Given the description of an element on the screen output the (x, y) to click on. 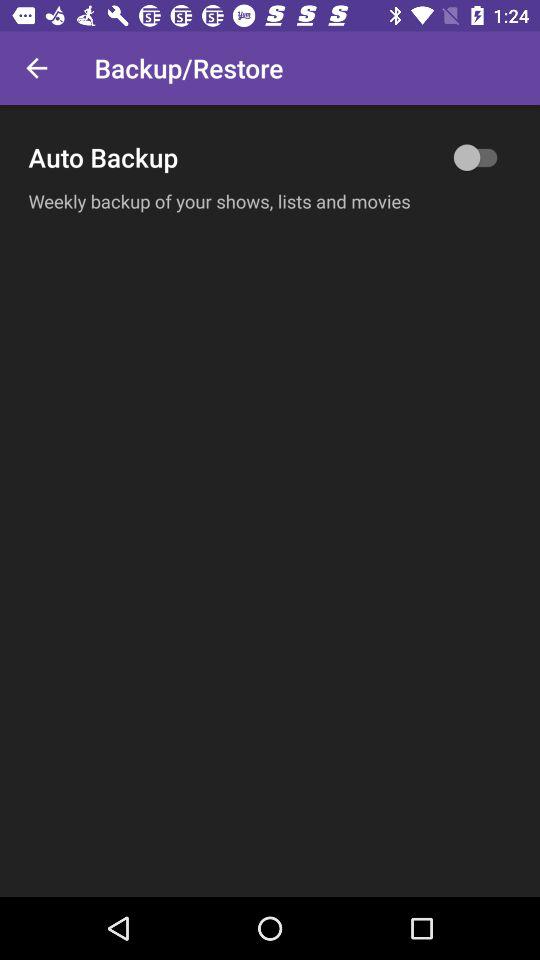
turn off the auto backup icon (269, 157)
